Given the description of an element on the screen output the (x, y) to click on. 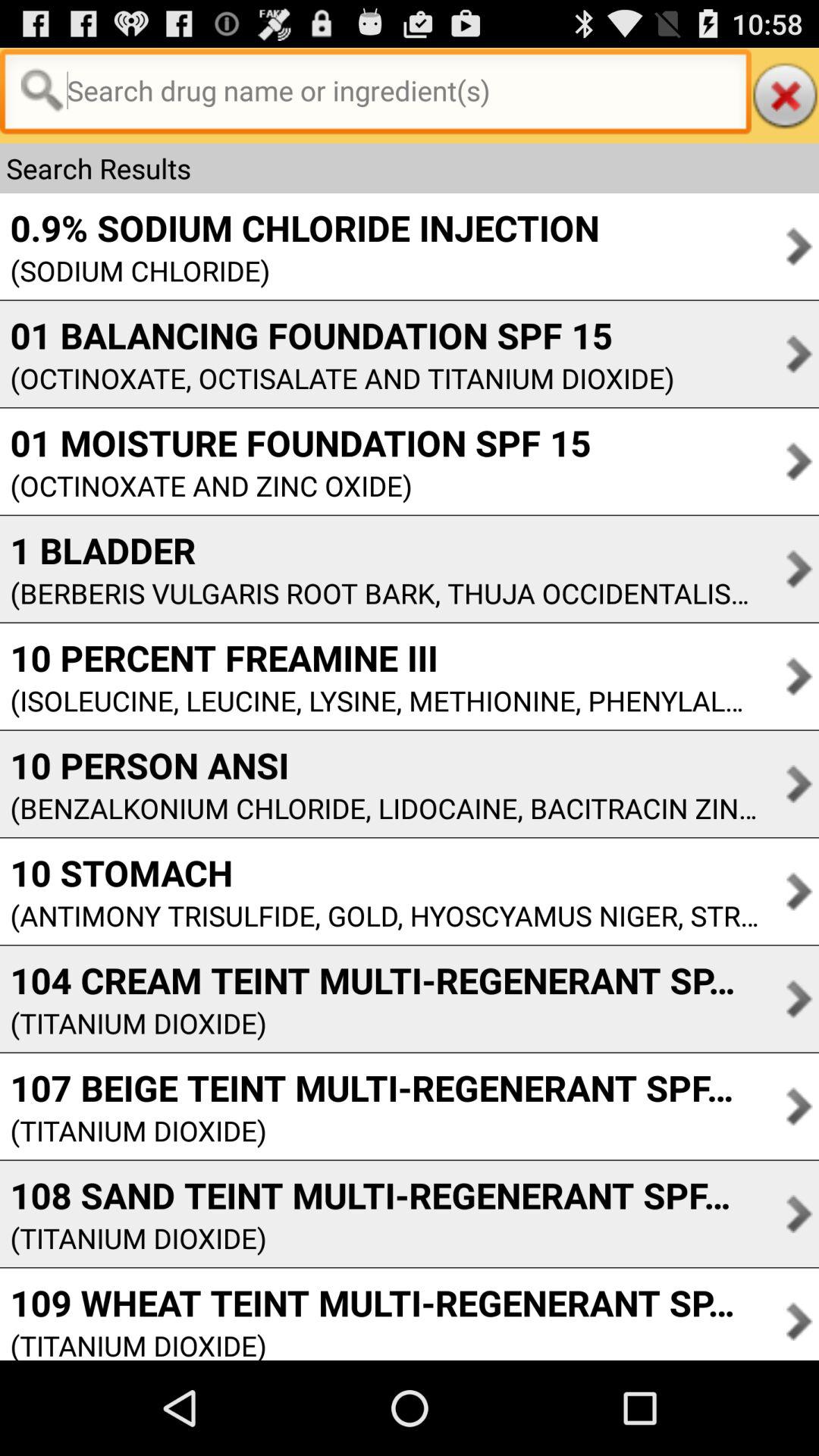
choose 10 percent freamine icon (379, 657)
